Given the description of an element on the screen output the (x, y) to click on. 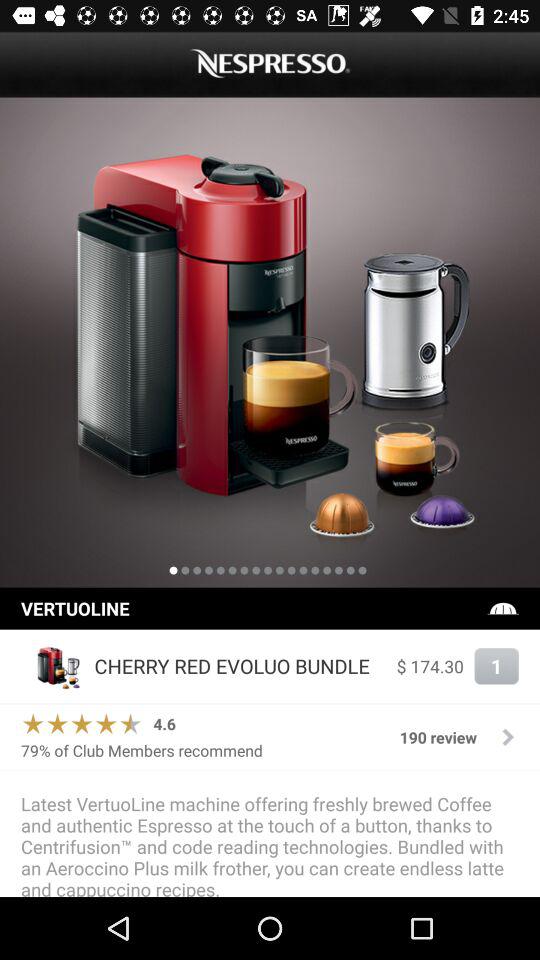
open icon below the vertuoline icon (52, 665)
